Given the description of an element on the screen output the (x, y) to click on. 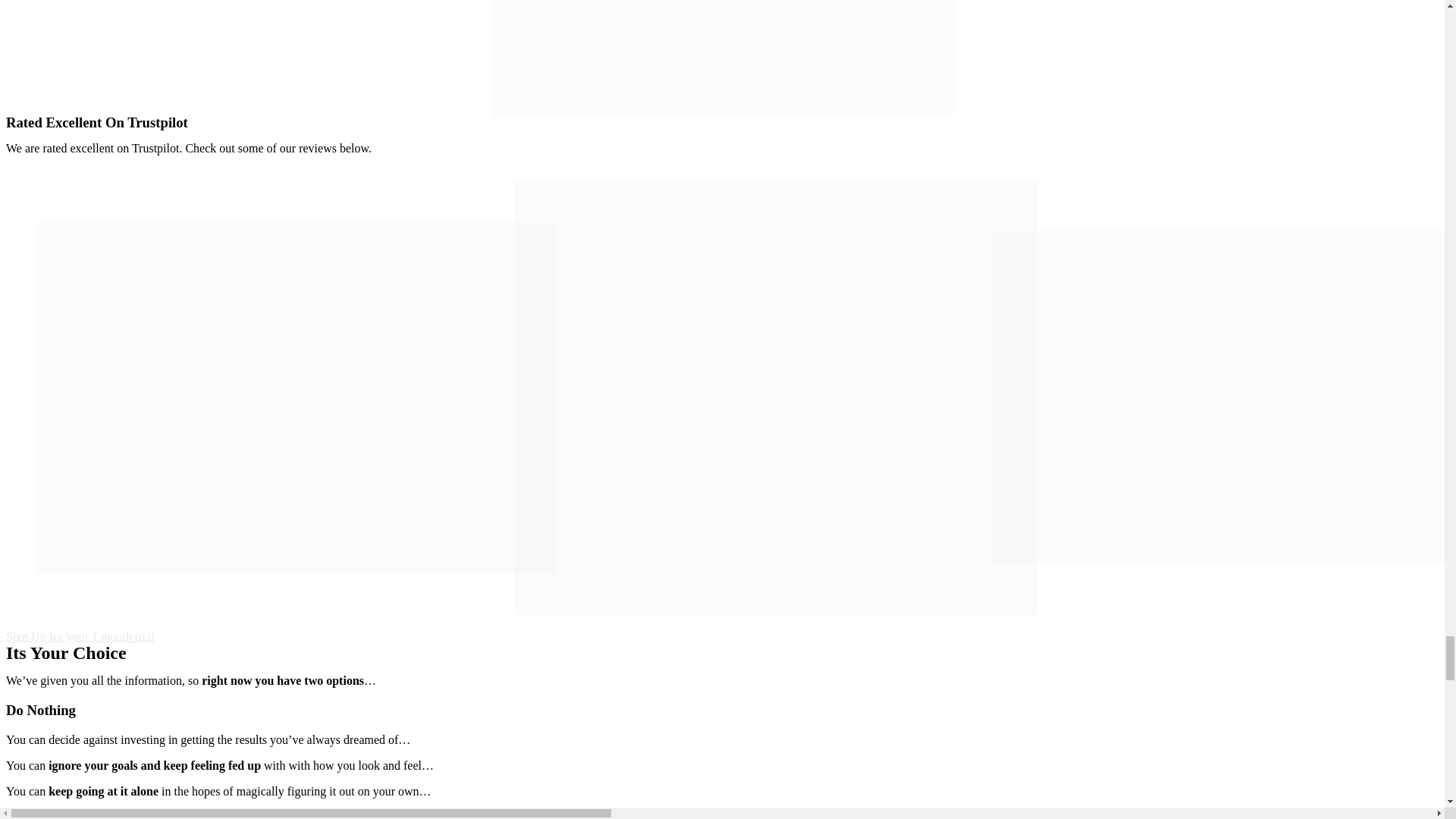
Sign Up for your 1 month trial (79, 635)
